Given the description of an element on the screen output the (x, y) to click on. 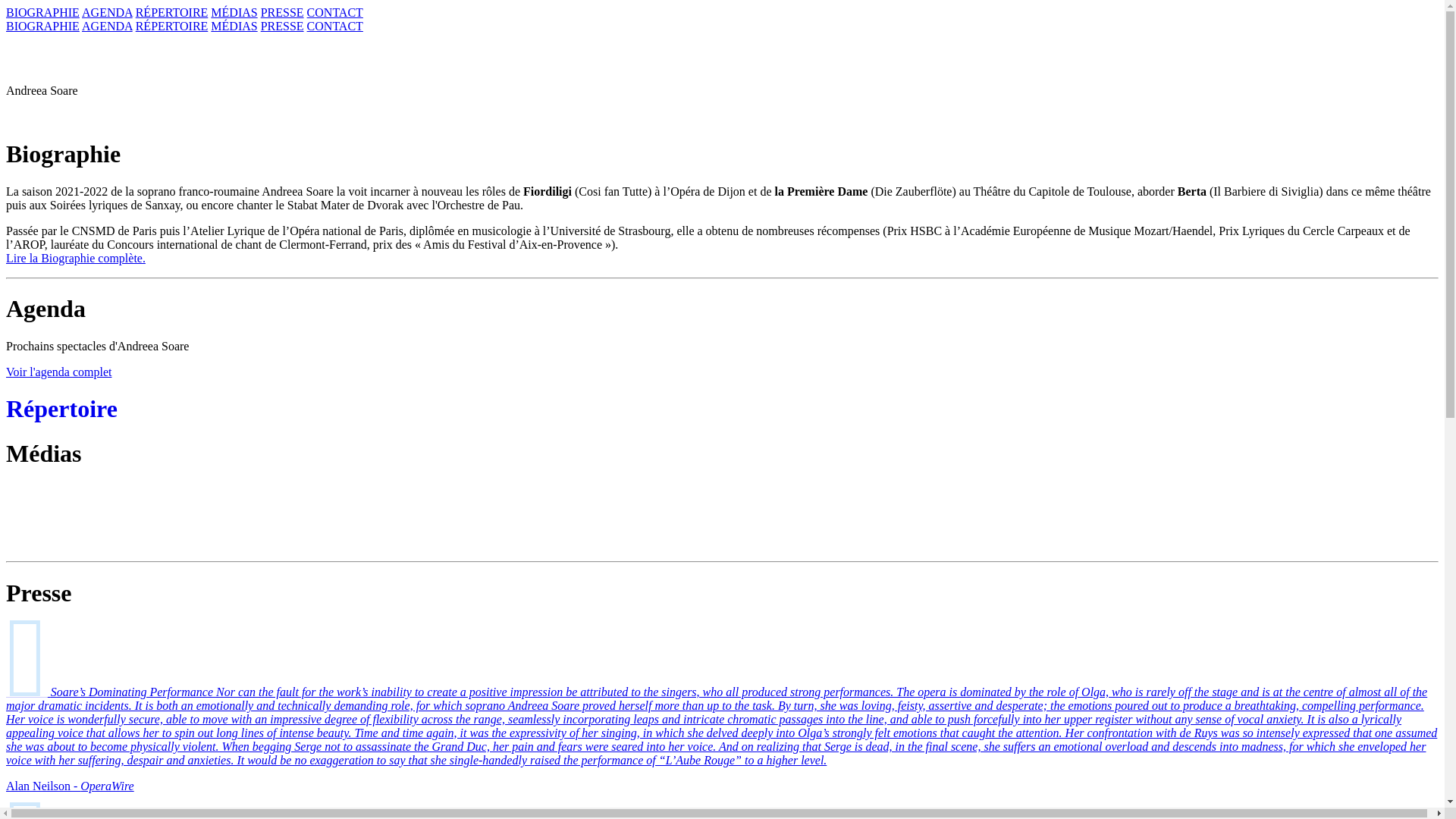
PRESSE (282, 25)
CONTACT (334, 25)
BIOGRAPHIE (42, 11)
Andreea Soare (721, 78)
AGENDA (106, 25)
CONTACT (334, 11)
PRESSE (282, 11)
BIOGRAPHIE (42, 25)
AGENDA (106, 11)
Voir l'agenda complet (58, 371)
